Given the description of an element on the screen output the (x, y) to click on. 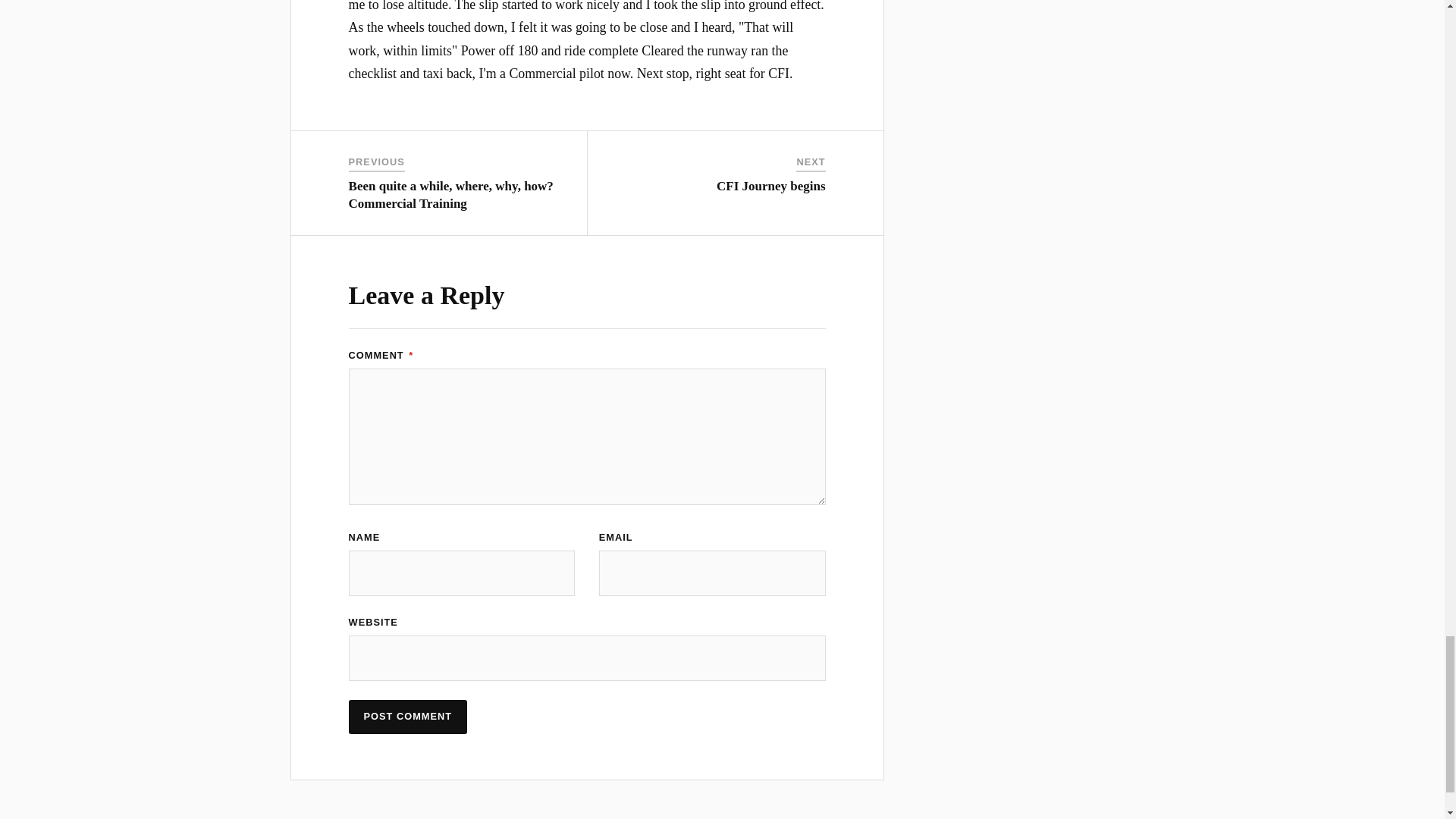
Post Comment (408, 716)
Been quite a while, where, why, how? Commercial Training (451, 194)
CFI Journey begins (770, 186)
Post Comment (408, 716)
